Given the description of an element on the screen output the (x, y) to click on. 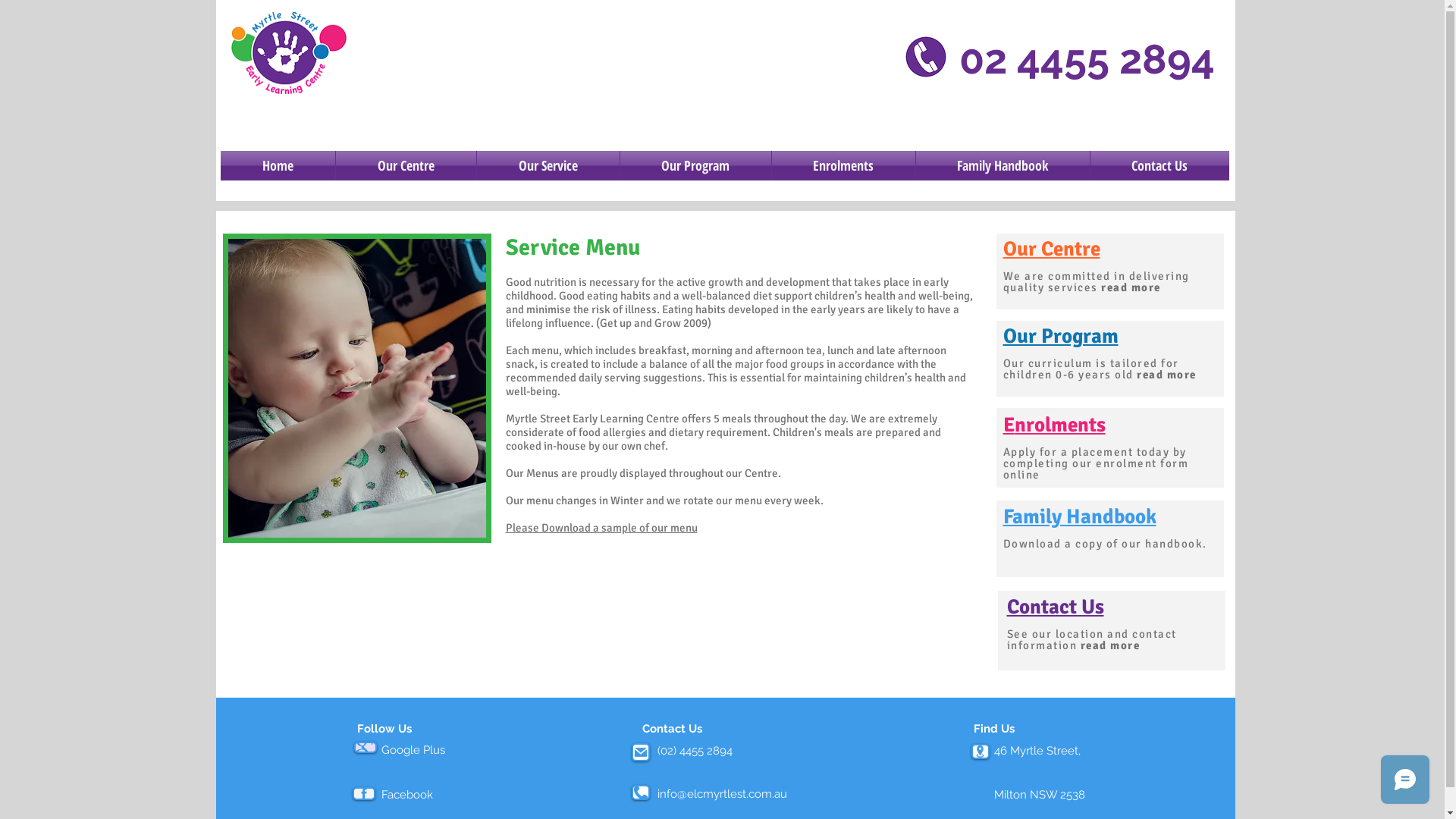
02 4455 2894 Element type: text (1086, 59)
Our Centre Element type: text (1050, 248)
Our curriculum is tailored for children 0-6 years old Element type: text (1090, 368)
Contact Us Element type: text (1159, 165)
We are committed in delivering quality services read more Element type: text (1095, 281)
Our Program Element type: text (1059, 335)
read more Element type: text (1166, 374)
info@elcmyrtlest.com.au Element type: text (721, 793)
Google Plus Element type: text (412, 749)
Family Handbook Element type: text (1002, 165)
Contact Us Element type: text (1055, 606)
Enrolments Element type: text (1053, 424)
Site Search Element type: hover (1090, 119)
See our location and contact information r Element type: text (1091, 639)
Home Element type: text (276, 165)
Please Download a sample of our menu Element type: text (600, 527)
Family Handbook Element type: text (1078, 516)
Facebook Element type: text (406, 794)
Milton NSW 2538 Element type: text (1038, 794)
46 Myrtle Street, Element type: text (1036, 750)
(02) 4455 2894 Element type: text (693, 750)
Download a copy of our handbook.   Element type: text (1107, 543)
ead more Element type: text (1112, 645)
